Given the description of an element on the screen output the (x, y) to click on. 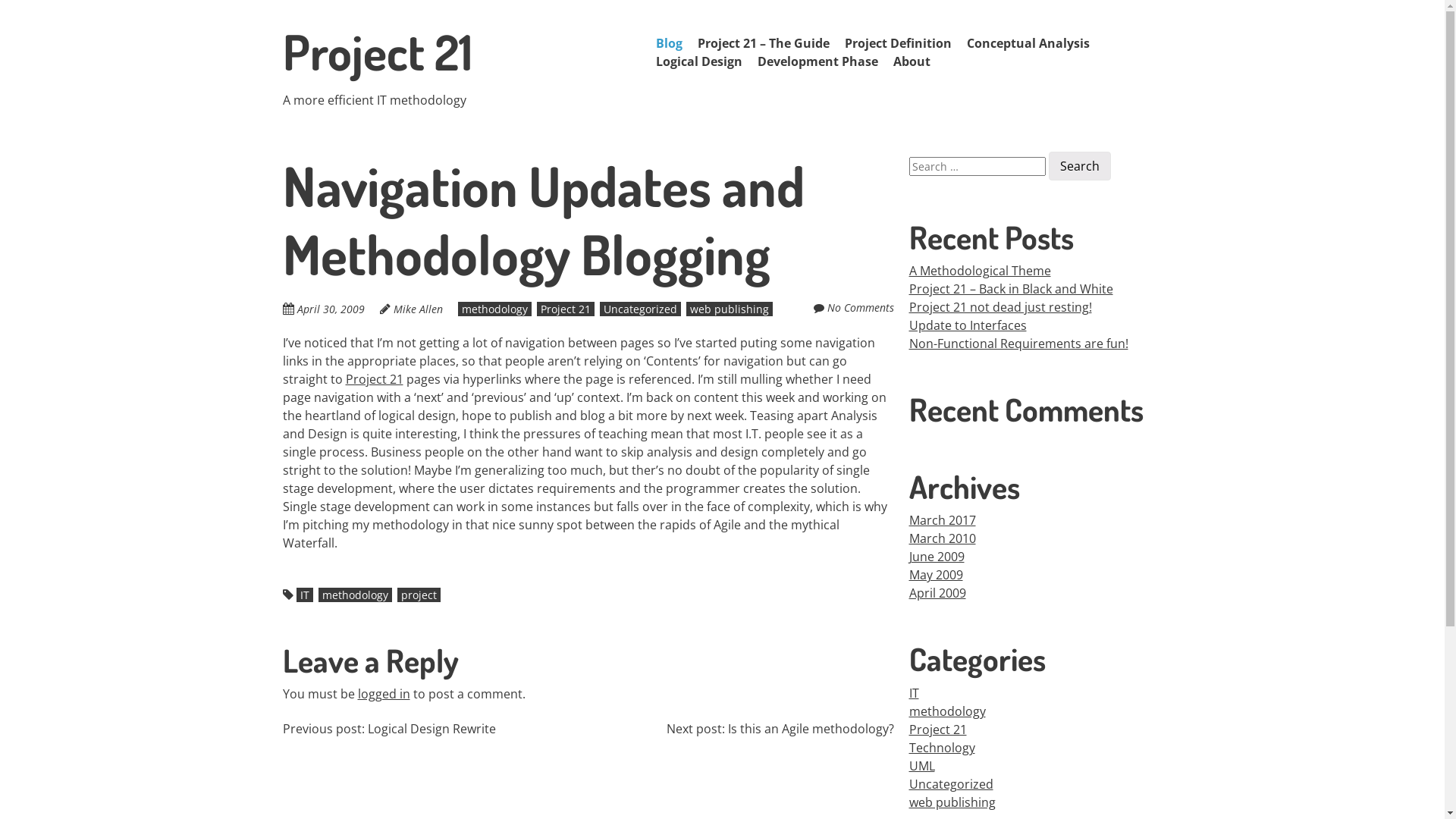
A Methodological Theme Element type: text (979, 270)
Project 21 Element type: text (376, 50)
methodology Element type: text (355, 594)
project Element type: text (418, 594)
Blog Element type: text (668, 43)
Previous post: Logical Design Rewrite Element type: text (388, 728)
Uncategorized Element type: text (950, 783)
Project Definition Element type: text (897, 43)
Uncategorized Element type: text (639, 308)
April 2009 Element type: text (936, 592)
June 2009 Element type: text (935, 556)
Skip to content Element type: text (683, 43)
IT Element type: text (303, 594)
Next post: Is this an Agile methodology? Element type: text (779, 728)
IT Element type: text (913, 692)
methodology Element type: text (494, 308)
Development Phase Element type: text (816, 61)
Project 21 Element type: text (374, 378)
About Element type: text (911, 61)
methodology Element type: text (946, 710)
Project 21 Element type: text (937, 729)
Search Element type: text (1079, 165)
Update to Interfaces Element type: text (967, 324)
March 2010 Element type: text (941, 538)
March 2017 Element type: text (941, 519)
Non-Functional Requirements are fun! Element type: text (1017, 343)
Mike Allen Element type: text (417, 308)
Project 21 Element type: text (565, 308)
No Comments Element type: text (859, 307)
Technology Element type: text (941, 747)
Project 21 not dead just resting! Element type: text (999, 306)
April 30, 2009 Element type: text (338, 308)
UML Element type: text (921, 765)
May 2009 Element type: text (935, 574)
Conceptual Analysis Element type: text (1027, 43)
web publishing Element type: text (951, 801)
Logical Design Element type: text (698, 61)
logged in Element type: text (383, 693)
web publishing Element type: text (728, 308)
